Given the description of an element on the screen output the (x, y) to click on. 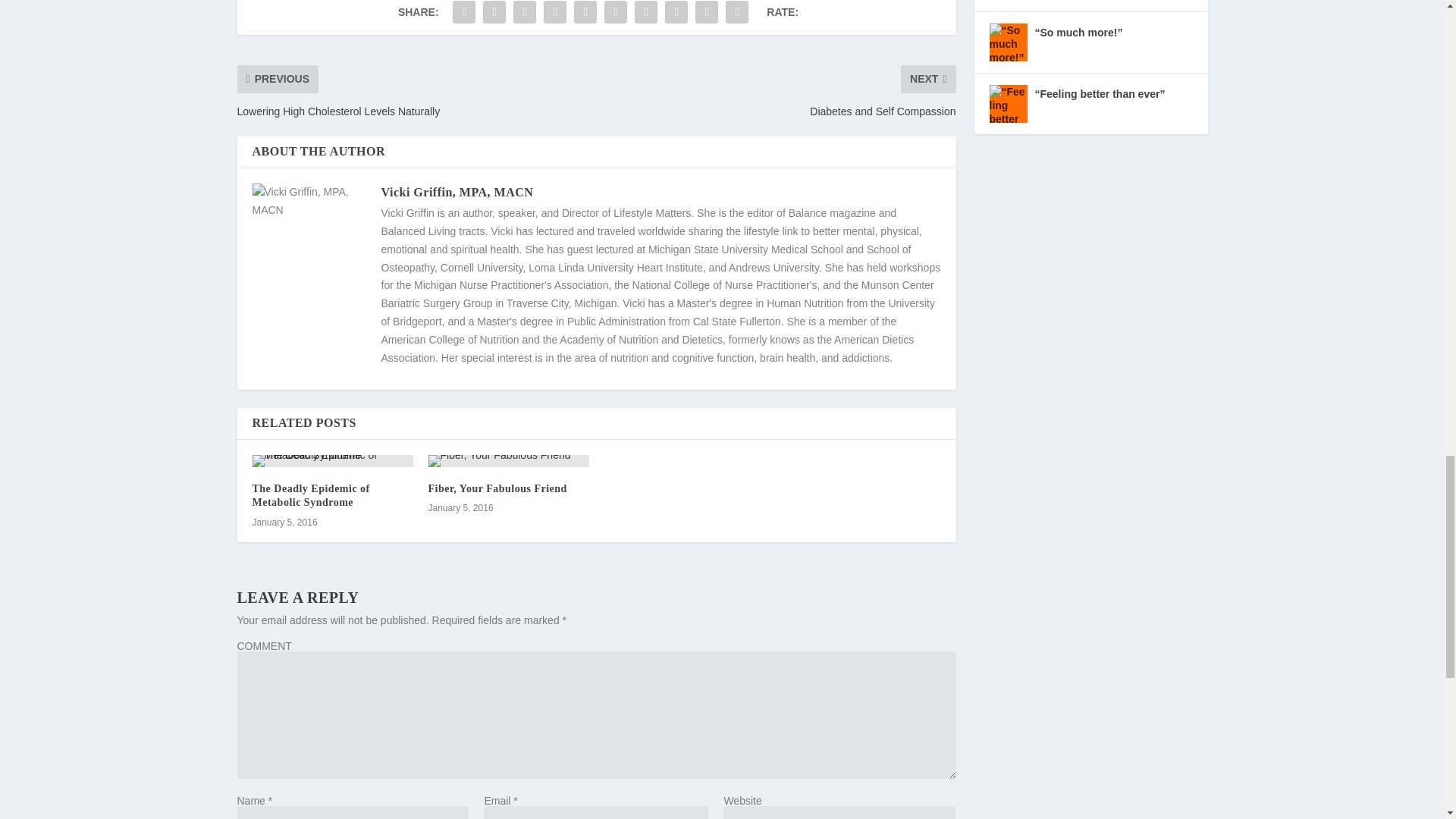
Share "Metabolic Syndrome: A Cluster of Trouble" via Tumblr (555, 13)
Share "Metabolic Syndrome: A Cluster of Trouble" via Twitter (494, 13)
Share "Metabolic Syndrome: A Cluster of Trouble" via Buffer (645, 13)
